Given the description of an element on the screen output the (x, y) to click on. 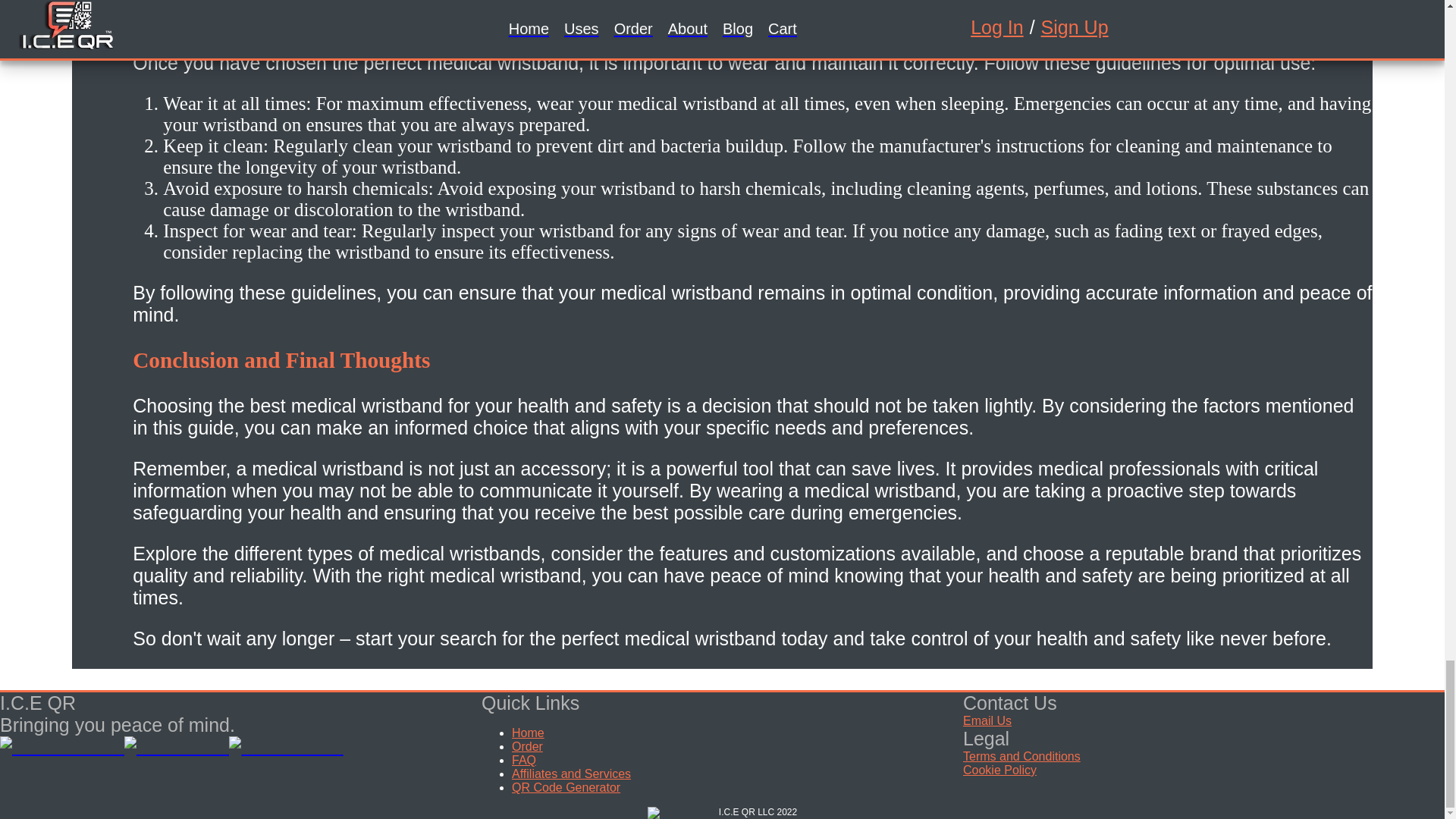
link to faq page (523, 759)
link to qr generator page (566, 787)
Order (527, 746)
link to cookie policy (999, 769)
FAQ (523, 759)
Affiliates and Services (571, 773)
link to home page (528, 732)
link to affiliates page (571, 773)
Home (528, 732)
Link to twitter (176, 746)
